Given the description of an element on the screen output the (x, y) to click on. 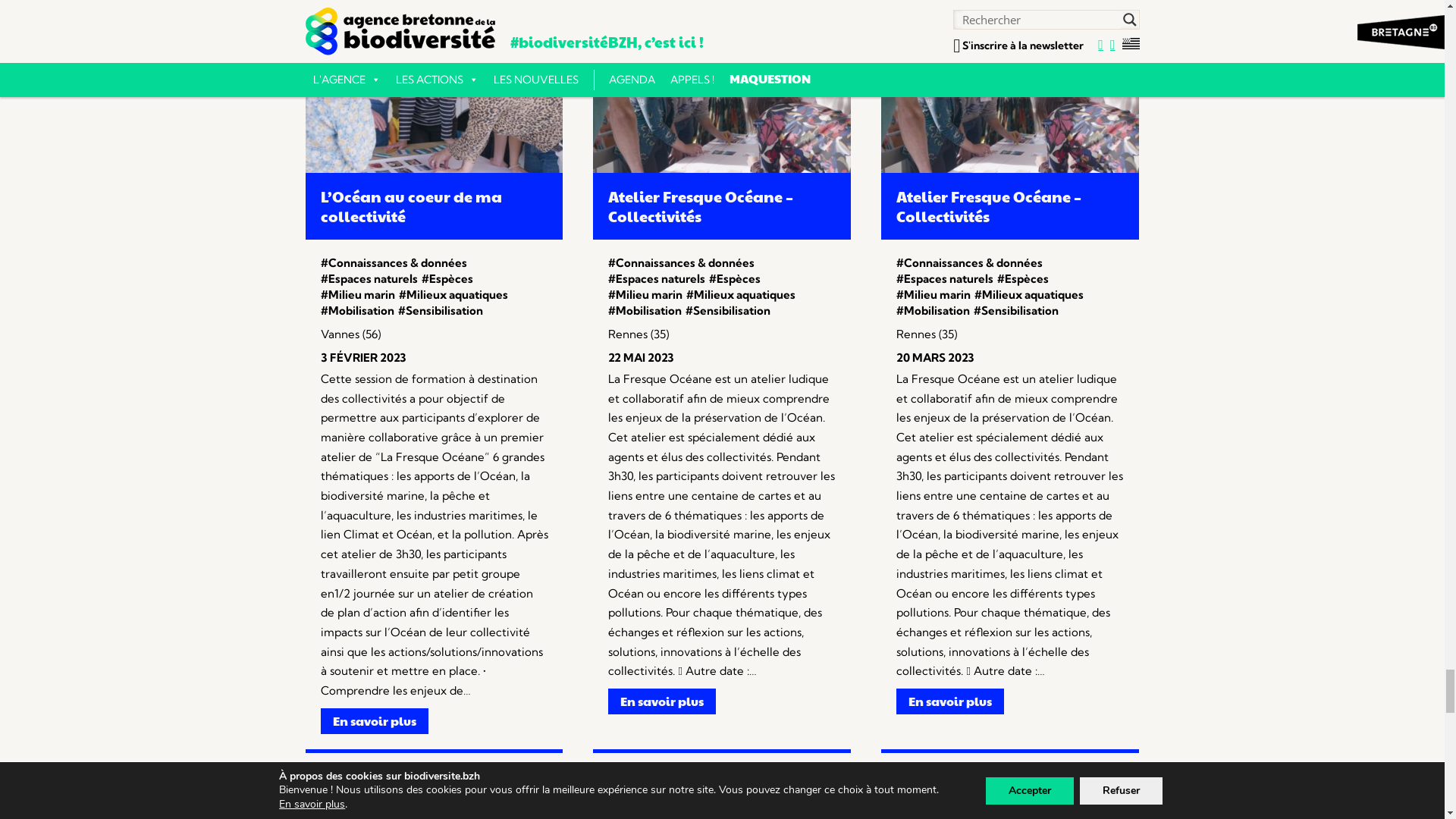
#Milieu marin Element type: text (1034, 795)
#Espaces naturels Element type: text (944, 795)
#Agriculture Element type: text (642, 799)
Webinaire du GIS HomMer #3 Element type: hover (1010, 705)
